Given the description of an element on the screen output the (x, y) to click on. 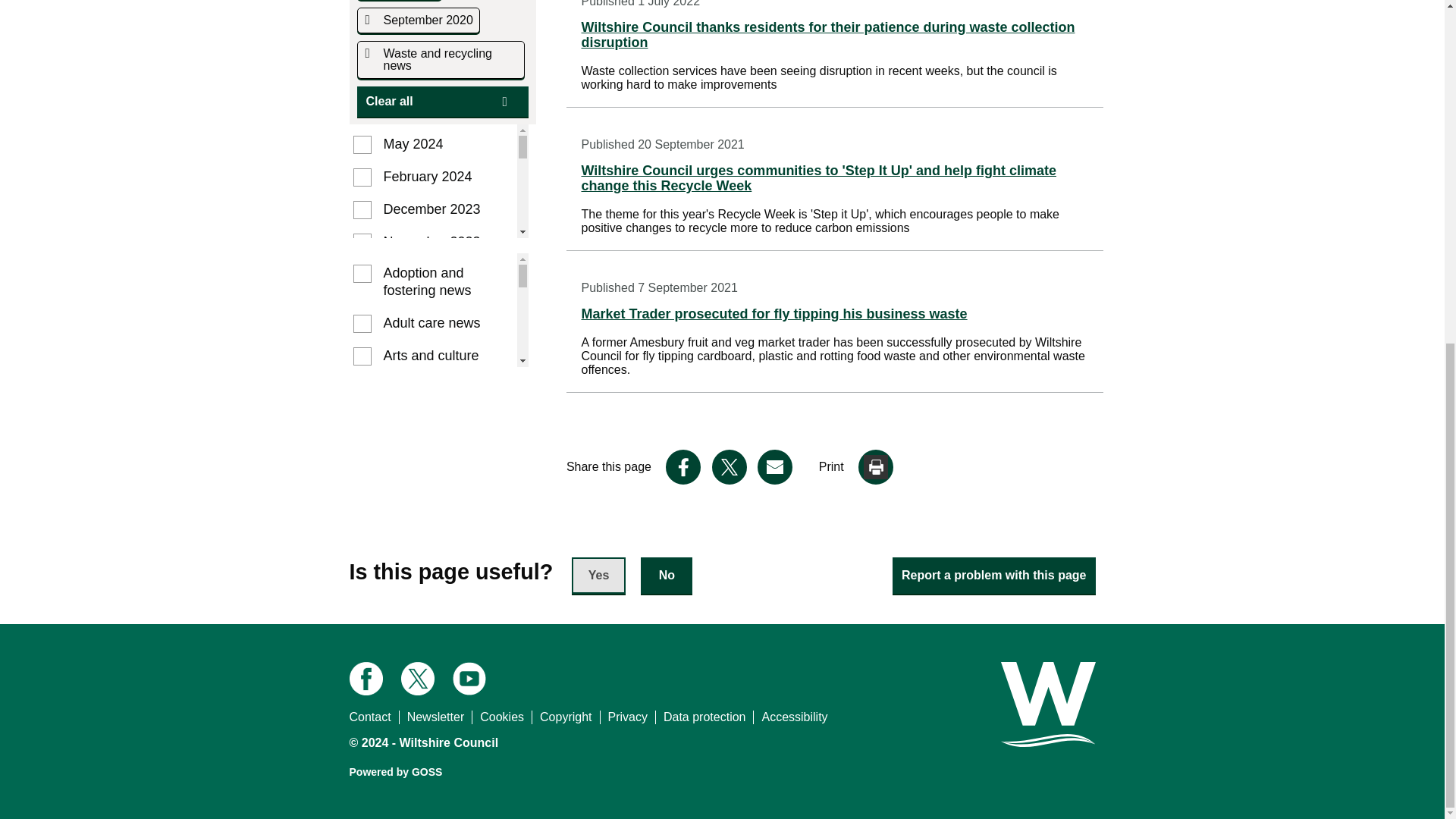
X: Wiltshire Council (417, 678)
Facebook: Wiltshire Council (365, 678)
YouTube: Wiltshire Council (469, 678)
